Given the description of an element on the screen output the (x, y) to click on. 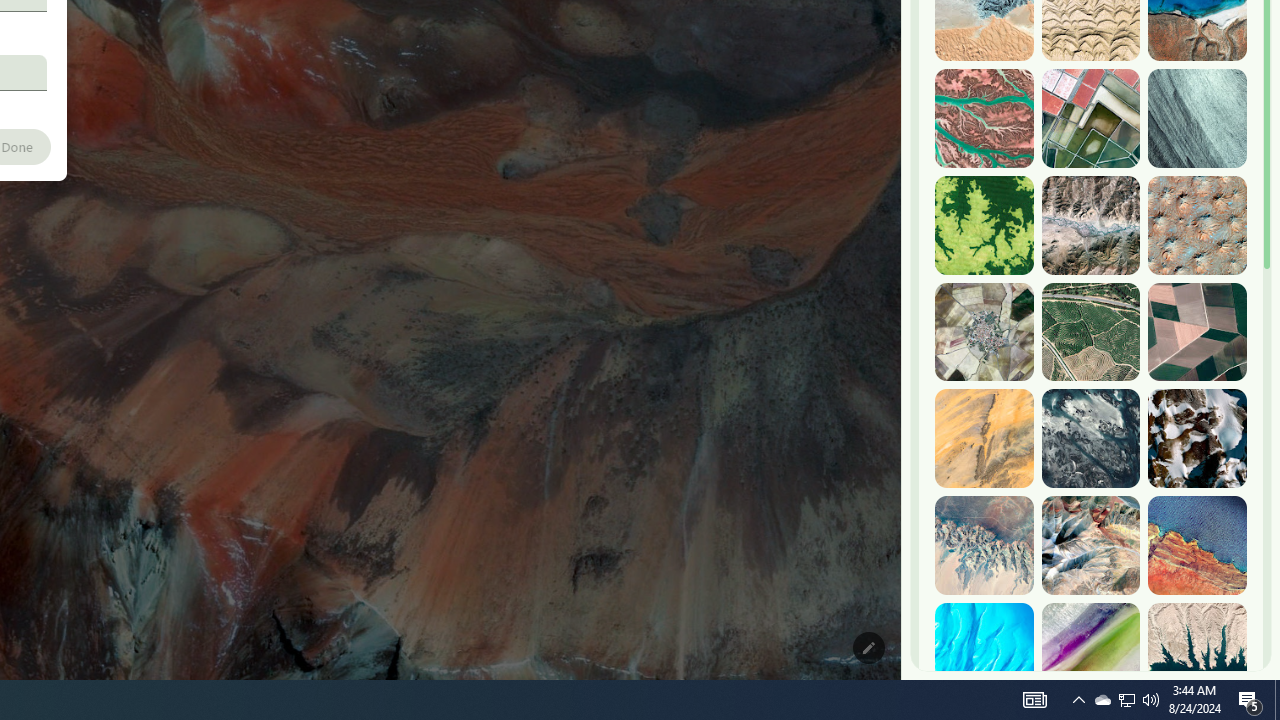
Ngari, China (1090, 545)
South Eleuthera, The Bahamas (984, 651)
Side Panel Resize Handle (905, 39)
Iceland (1197, 119)
Ouargla, Algeria (1197, 225)
